Given the description of an element on the screen output the (x, y) to click on. 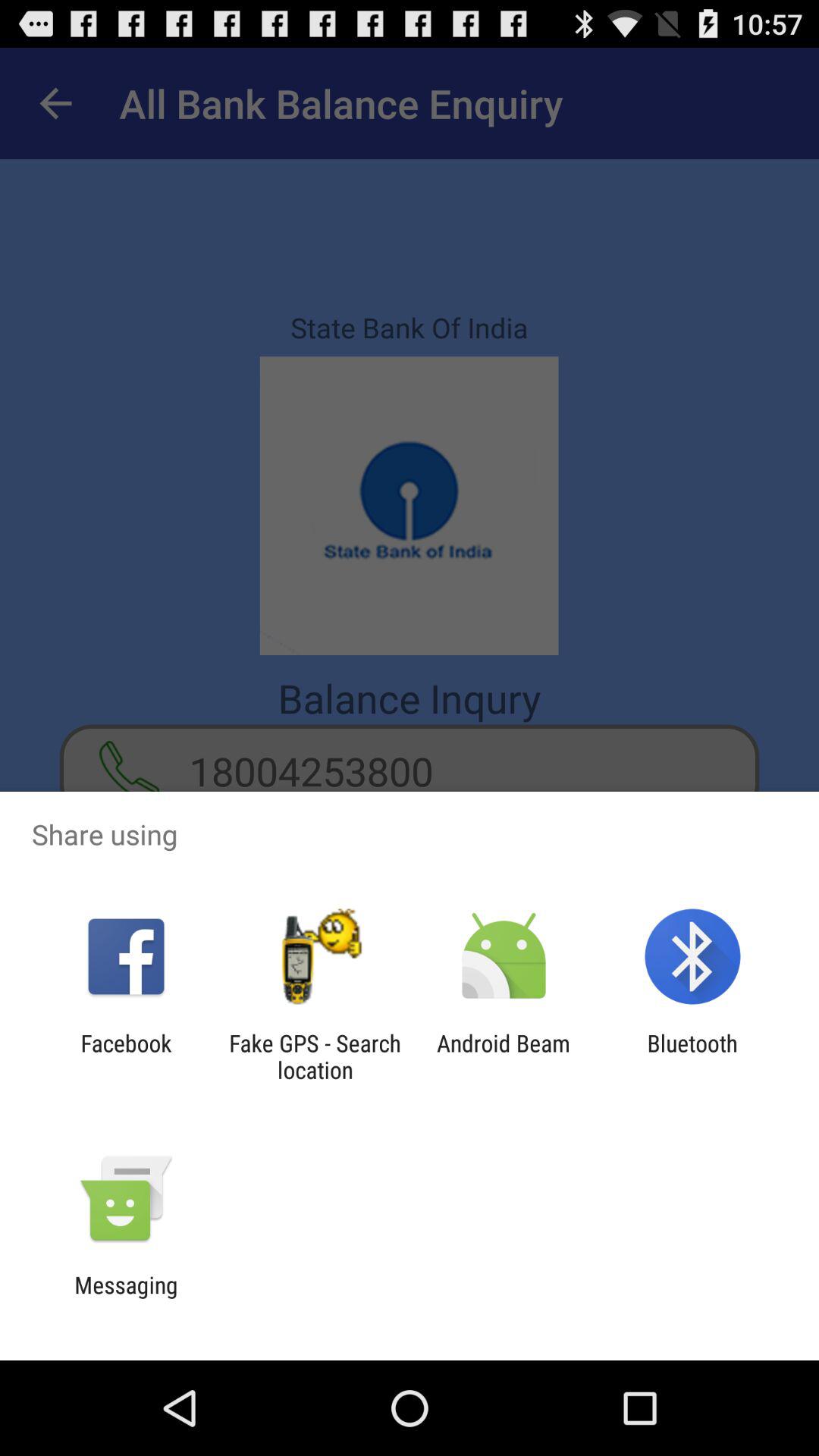
press icon to the right of android beam item (692, 1056)
